Given the description of an element on the screen output the (x, y) to click on. 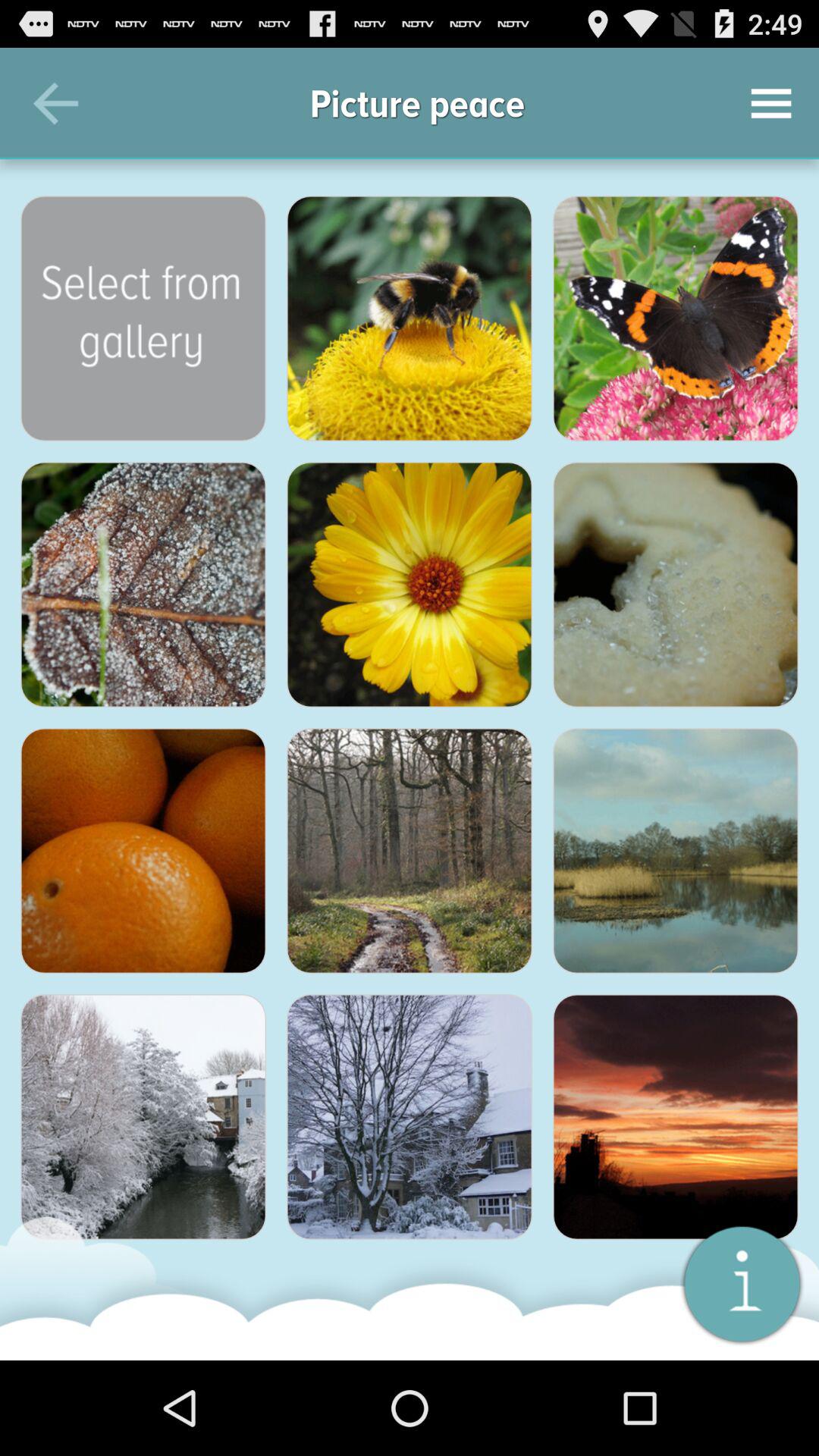
select this thumbnail (409, 584)
